Given the description of an element on the screen output the (x, y) to click on. 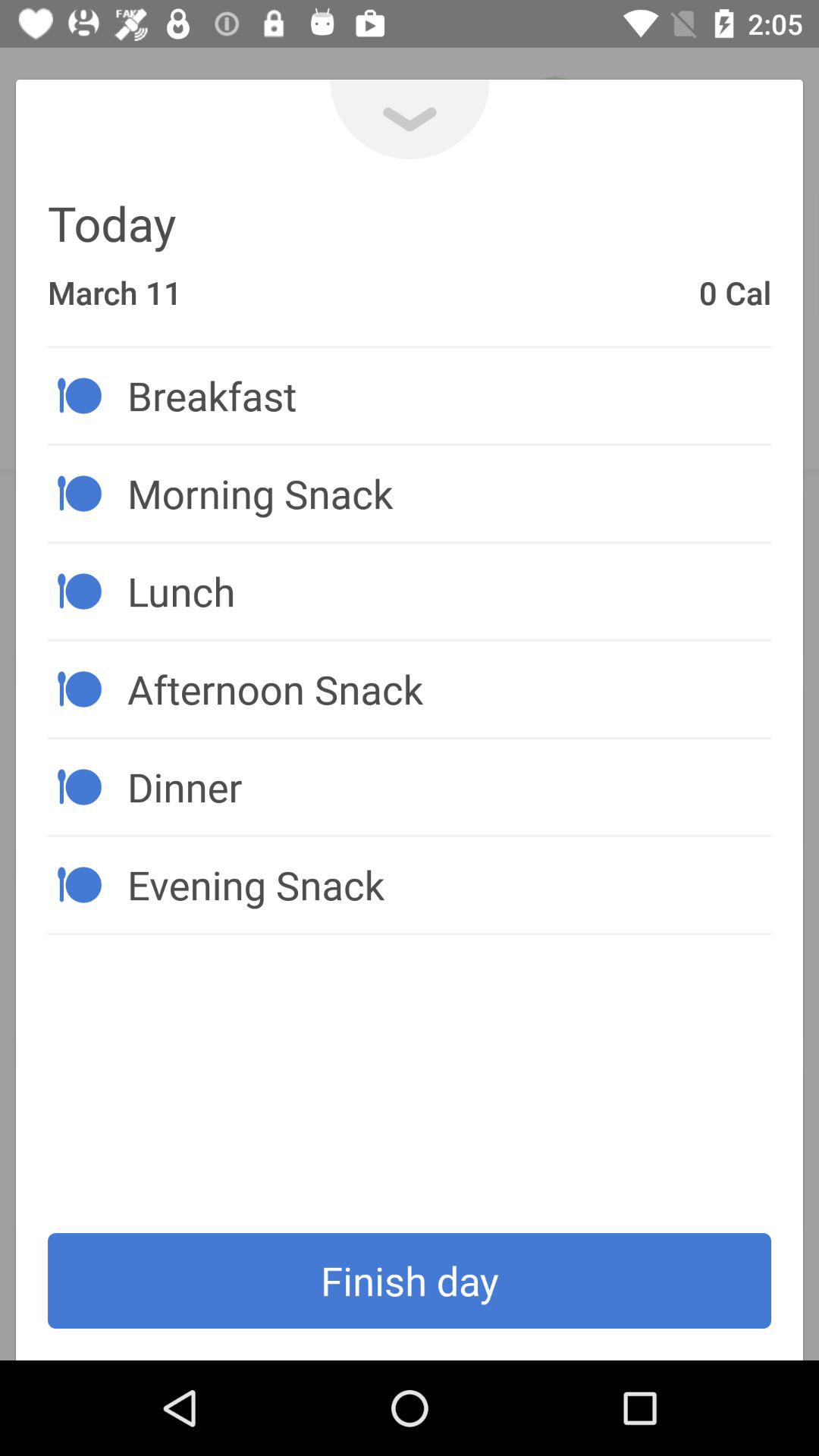
choose finish day icon (409, 1280)
